Given the description of an element on the screen output the (x, y) to click on. 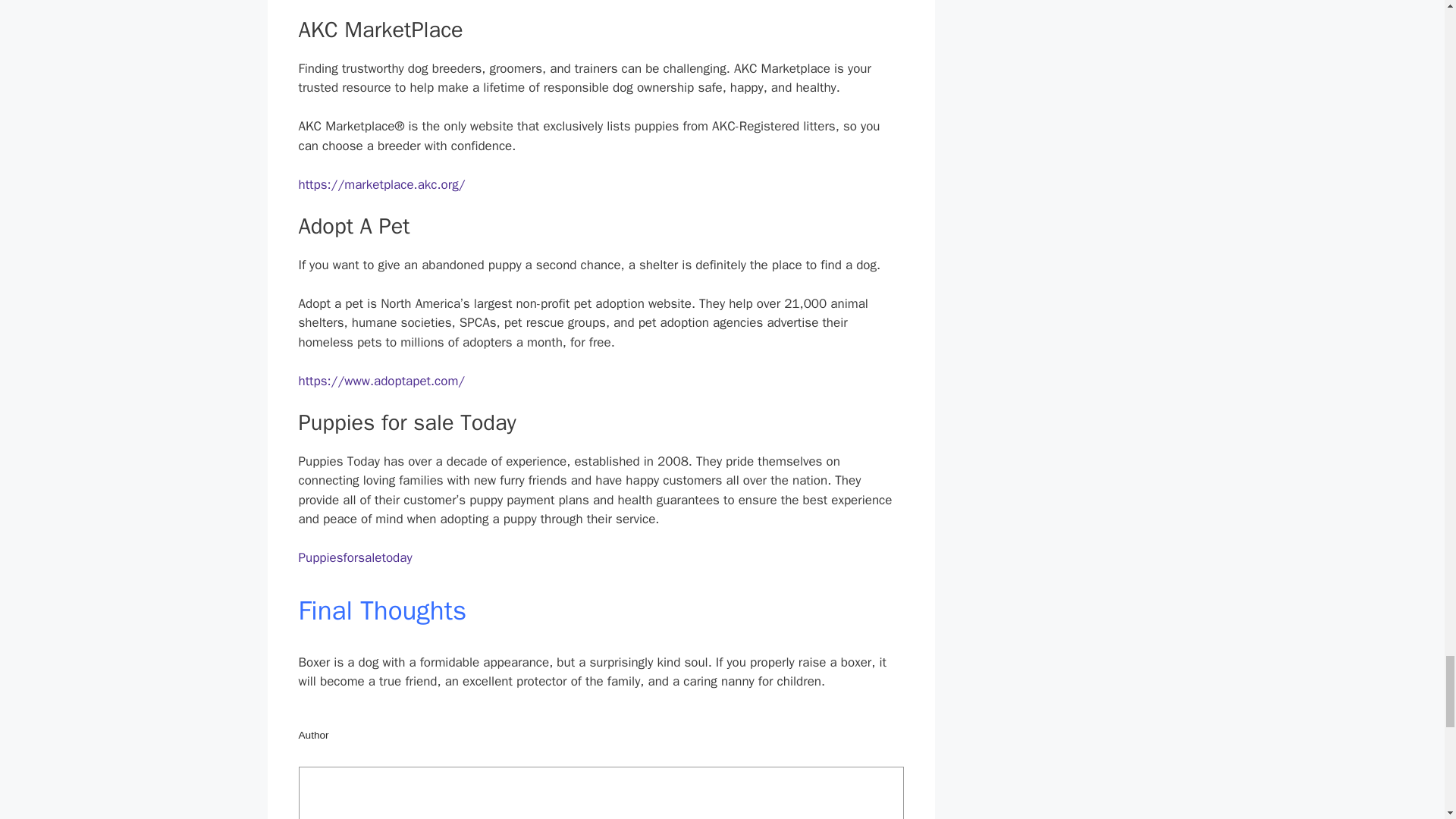
Puppiesforsaletoday (355, 557)
